Given the description of an element on the screen output the (x, y) to click on. 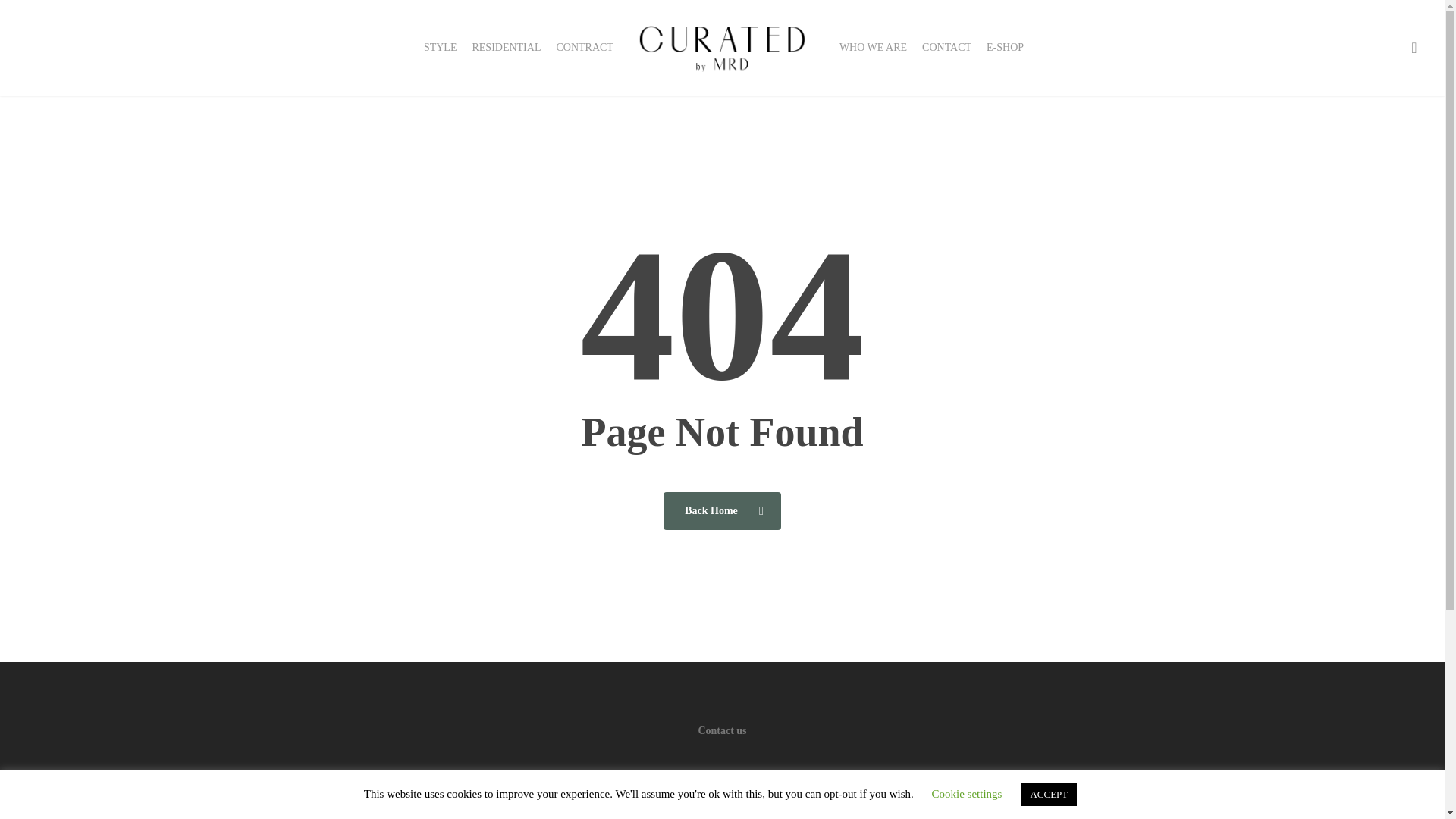
STYLE (440, 47)
RESIDENTIAL (505, 47)
